Given the description of an element on the screen output the (x, y) to click on. 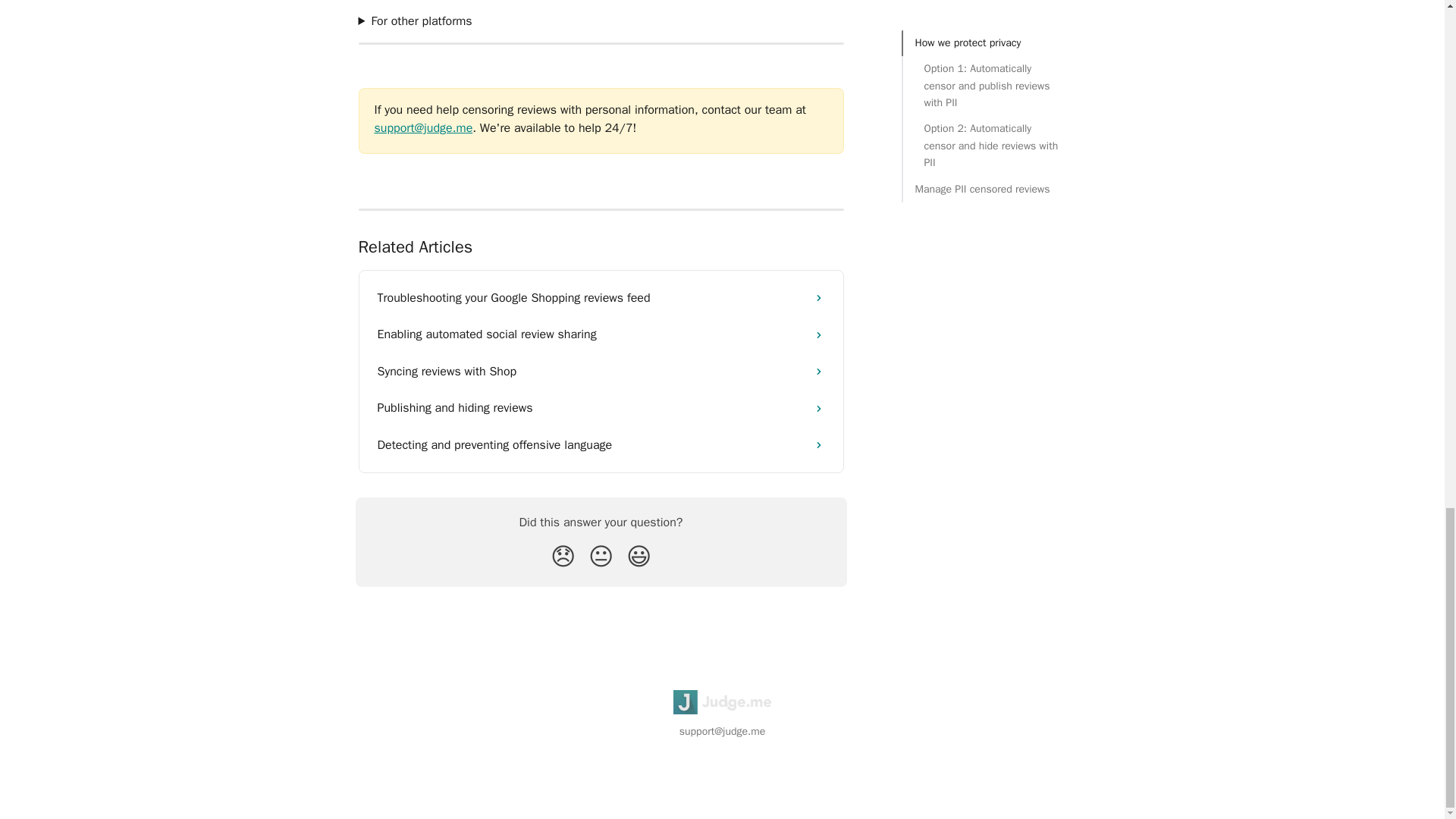
Troubleshooting your Google Shopping reviews feed (601, 298)
Detecting and preventing offensive language (601, 444)
Publishing and hiding reviews (601, 407)
Syncing reviews with Shop (601, 370)
Enabling automated social review sharing (601, 334)
